Given the description of an element on the screen output the (x, y) to click on. 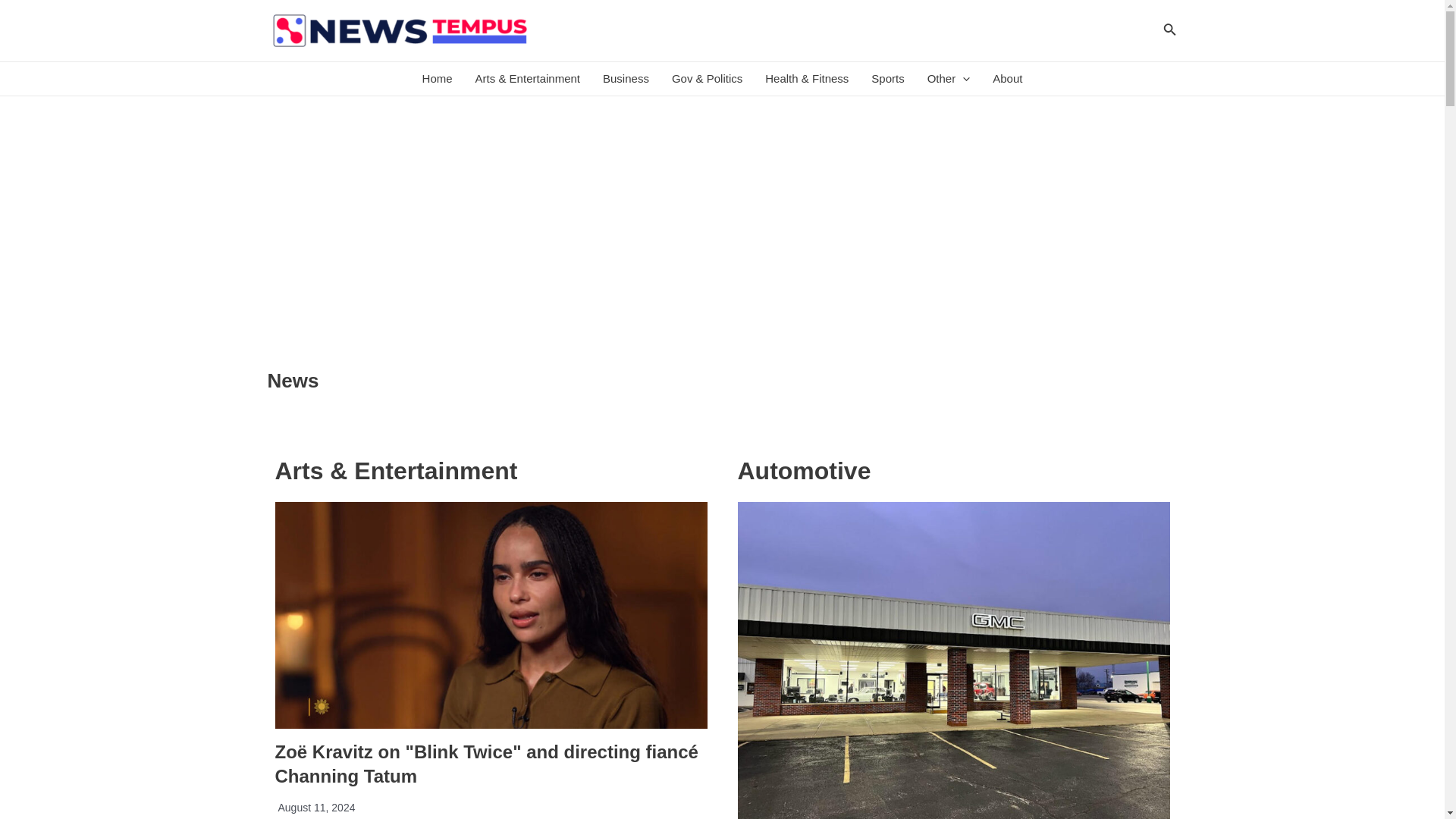
Sports (887, 78)
Home (437, 78)
About (1007, 78)
Other (948, 78)
Business (626, 78)
